Given the description of an element on the screen output the (x, y) to click on. 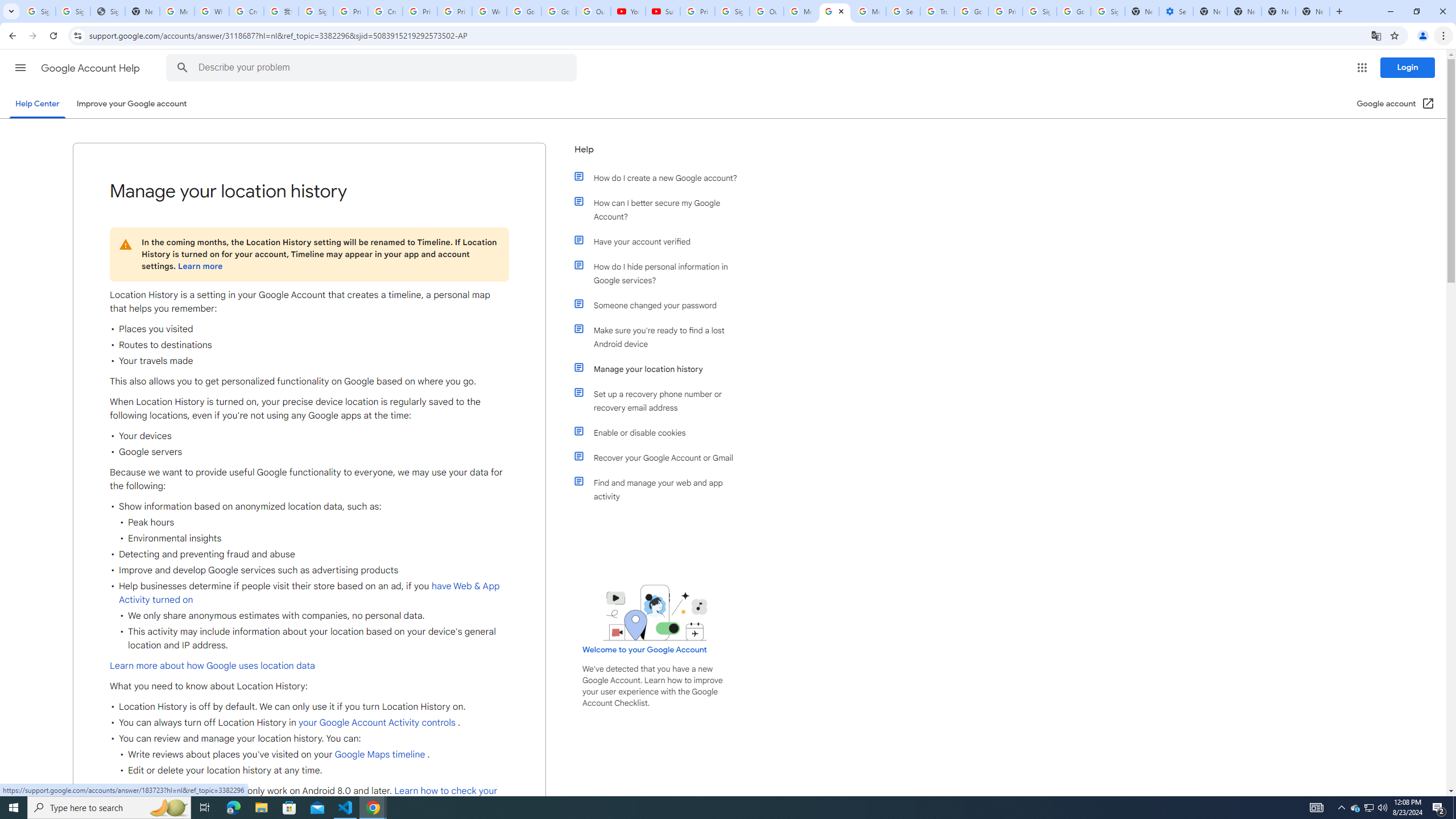
Subscriptions - YouTube (662, 11)
New Tab (1278, 11)
Have your account verified (661, 241)
Google Ads - Sign in (970, 11)
Set up a recovery phone number or recovery email address (661, 400)
Settings - Performance (1176, 11)
Learn more (199, 266)
have Web & App Activity turned on (309, 593)
